Given the description of an element on the screen output the (x, y) to click on. 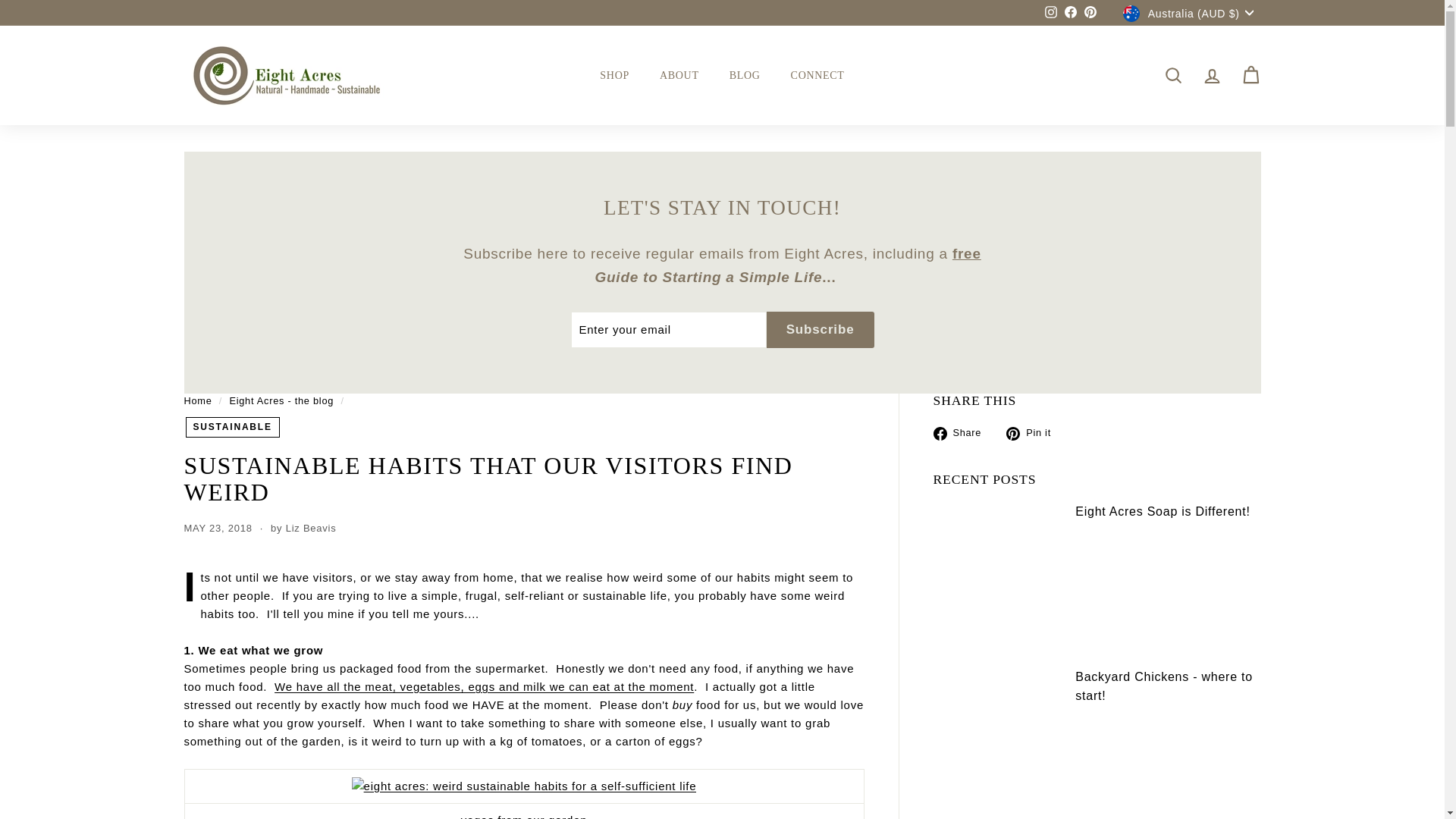
Back to the frontpage (197, 400)
SHOP (615, 75)
